Given the description of an element on the screen output the (x, y) to click on. 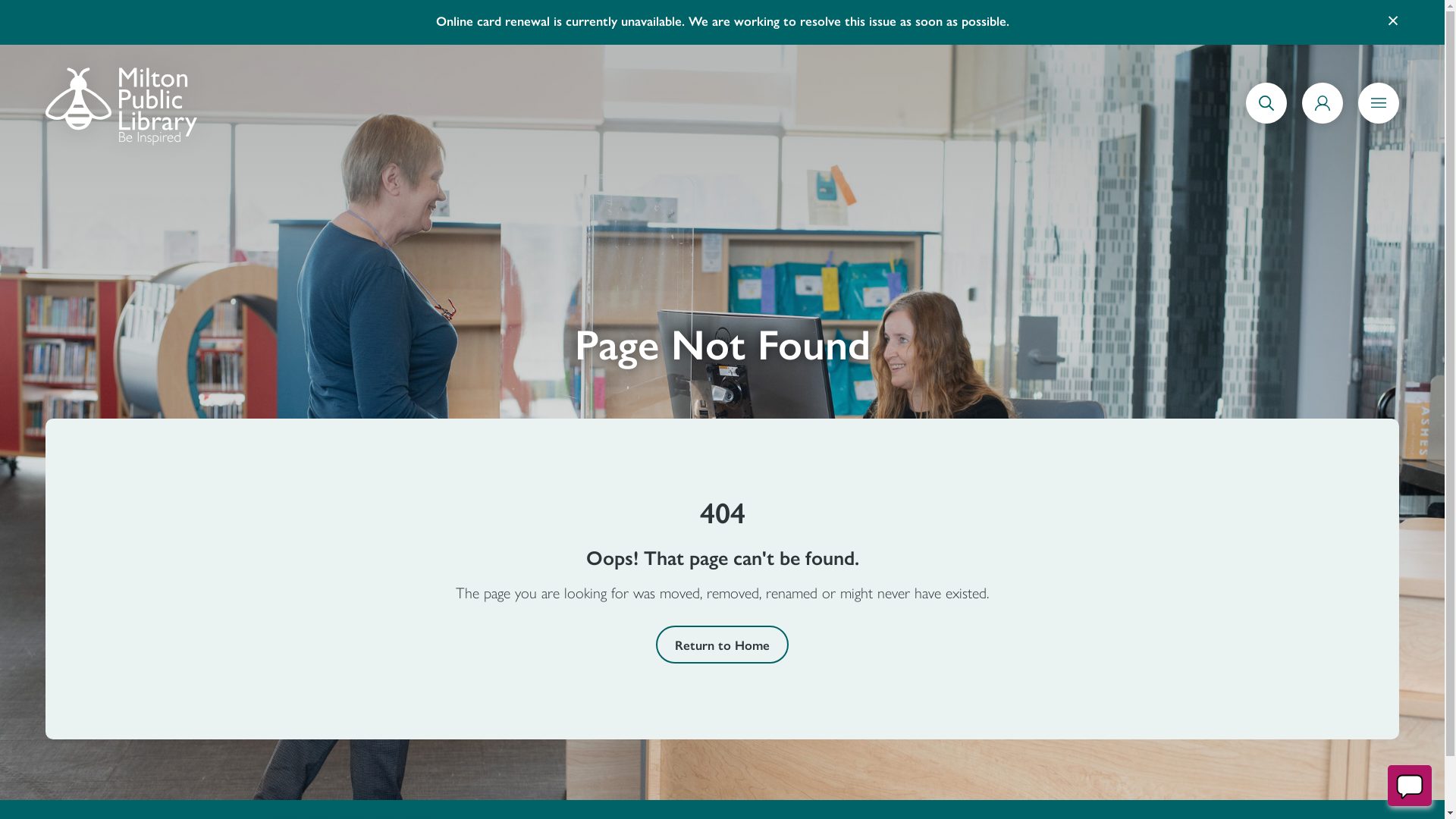
Return to Home Element type: text (721, 644)
MY ACCOUNT Element type: text (1322, 120)
SEARCH Element type: text (1265, 120)
Start chat Element type: hover (1409, 785)
